Given the description of an element on the screen output the (x, y) to click on. 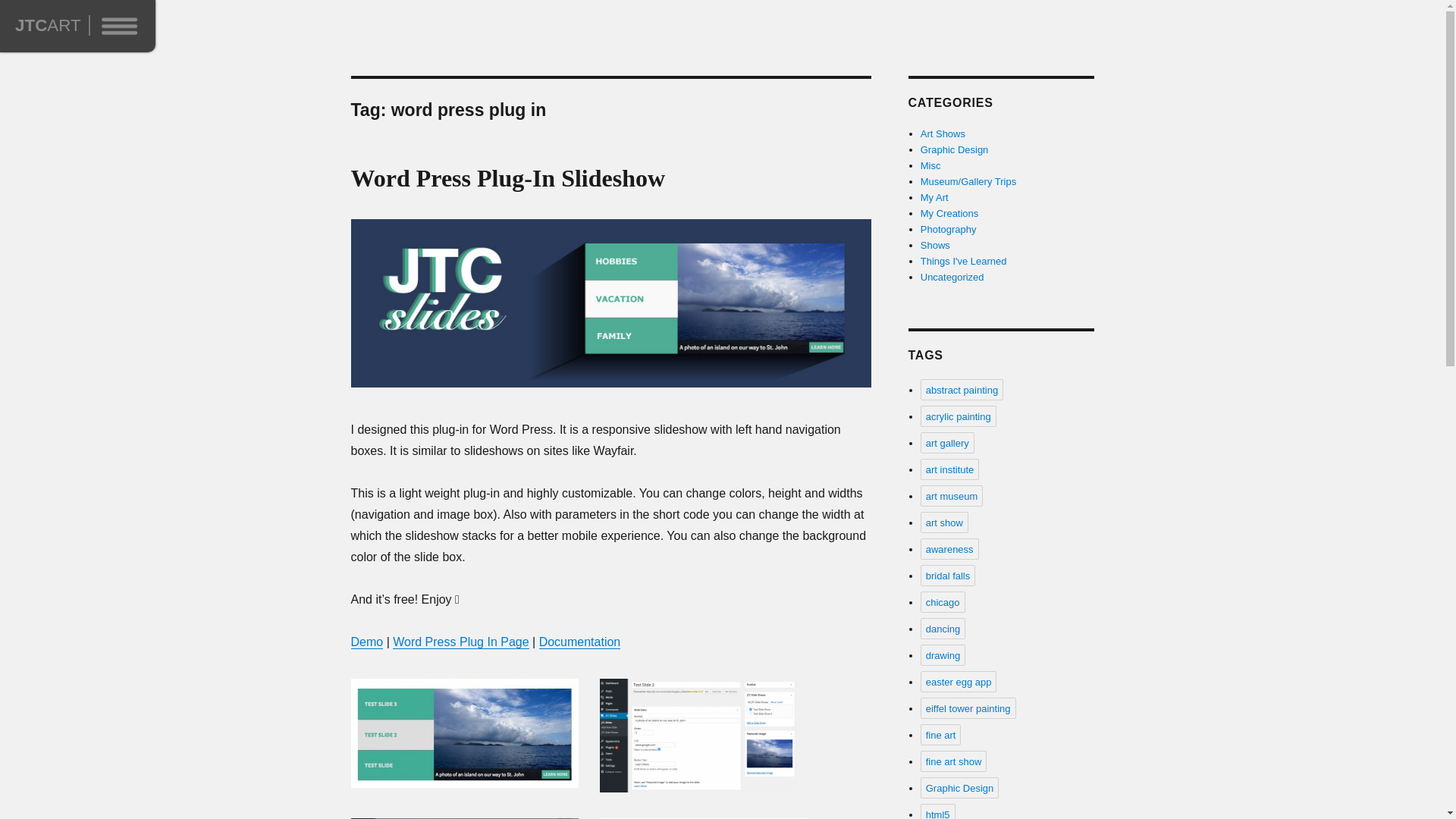
Misc (930, 165)
Graphic Design (954, 149)
Art Shows (942, 133)
JTCART (47, 25)
Demo (366, 641)
Documentation (579, 641)
Word Press Plug In Page (460, 641)
My Art (934, 197)
Word Press Plug-In Slideshow (507, 177)
My Creations (949, 213)
